Given the description of an element on the screen output the (x, y) to click on. 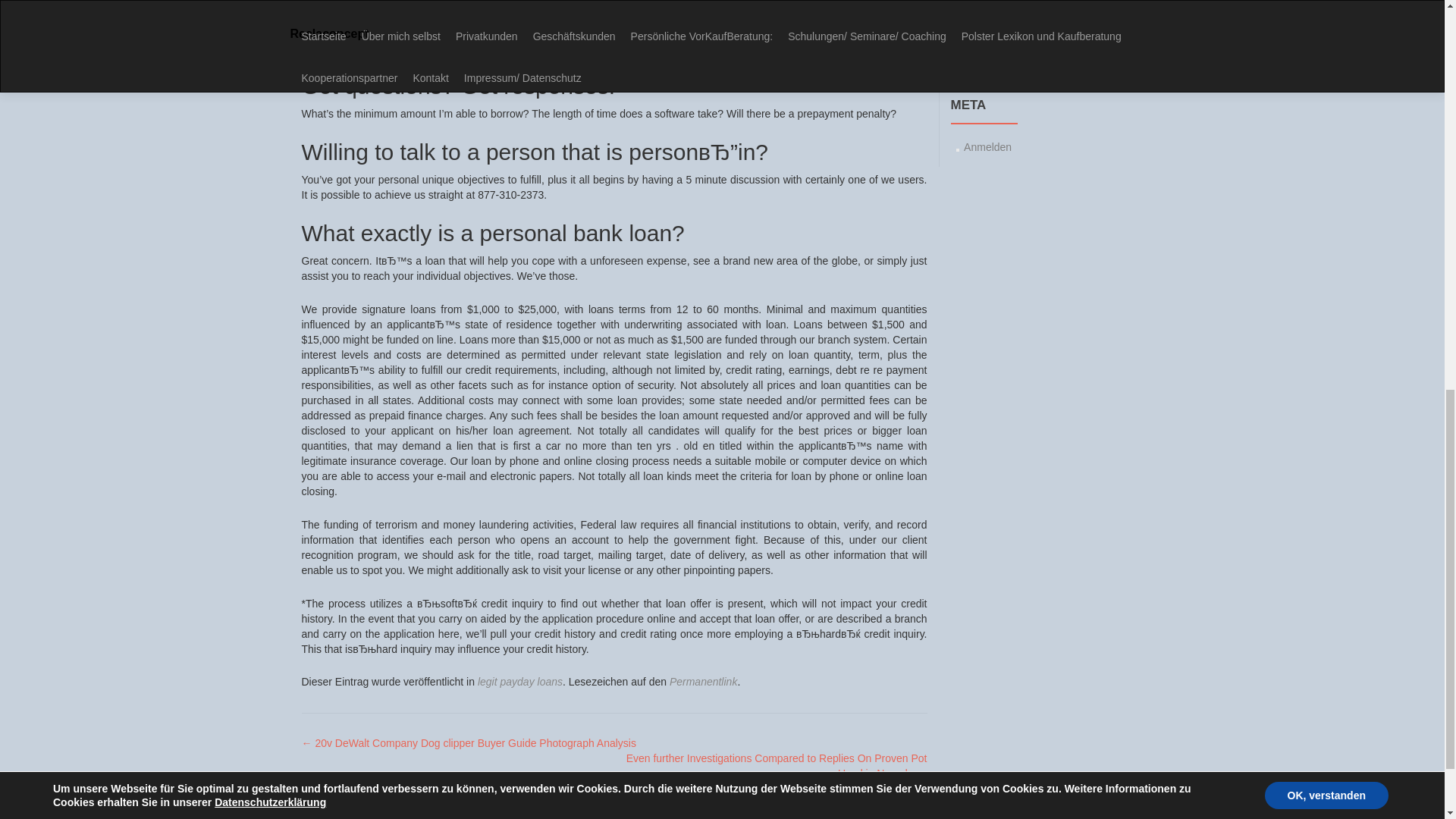
Permanentlink (703, 681)
legit payday loans (519, 681)
